Given the description of an element on the screen output the (x, y) to click on. 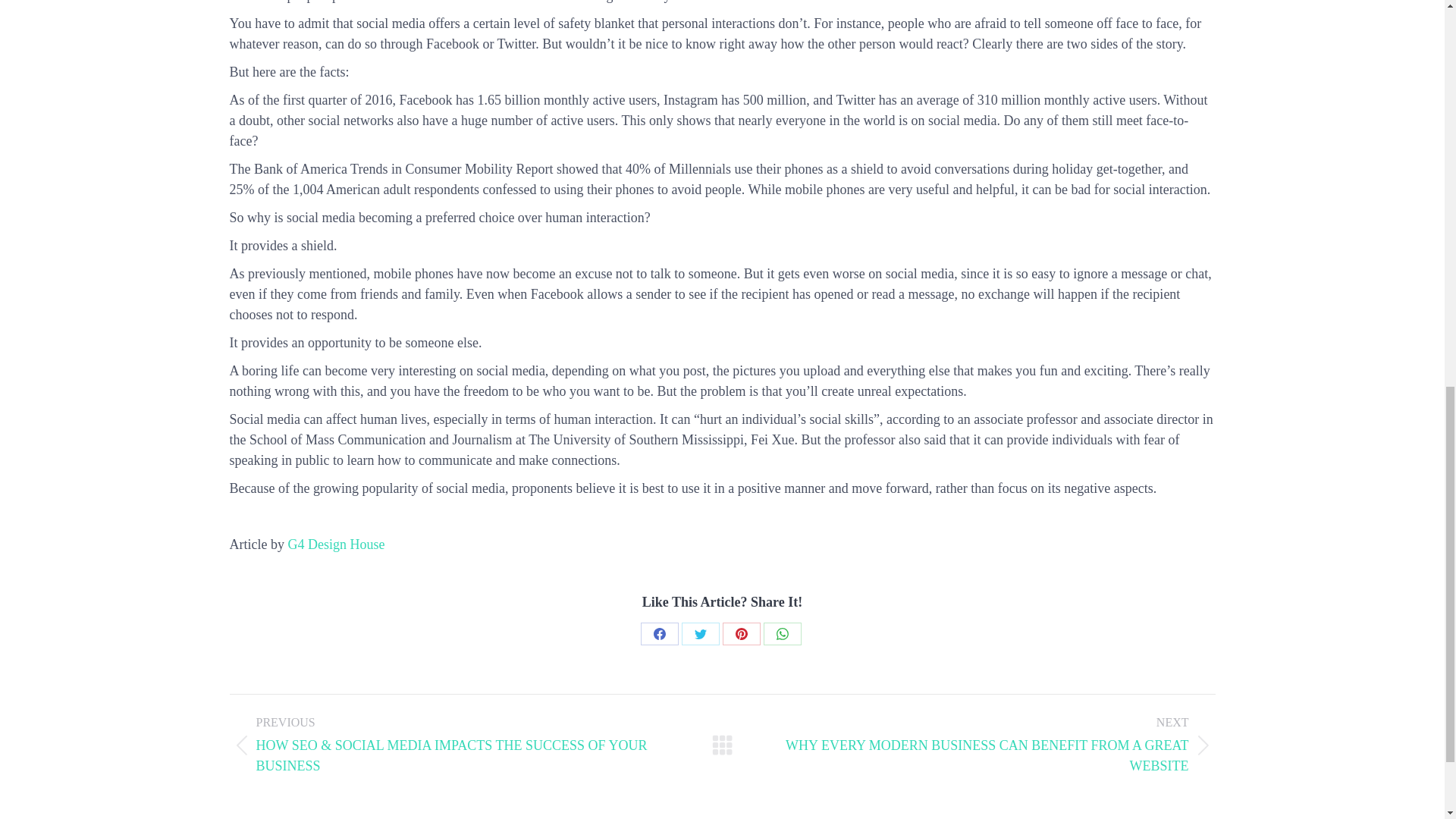
Facebook (659, 633)
G4 Design House (335, 544)
Twitter (700, 633)
WhatsApp (781, 633)
Pinterest (741, 633)
Share on Pinterest (741, 633)
Share on WhatsApp (781, 633)
Share on Twitter (700, 633)
Share on Facebook (659, 633)
